Given the description of an element on the screen output the (x, y) to click on. 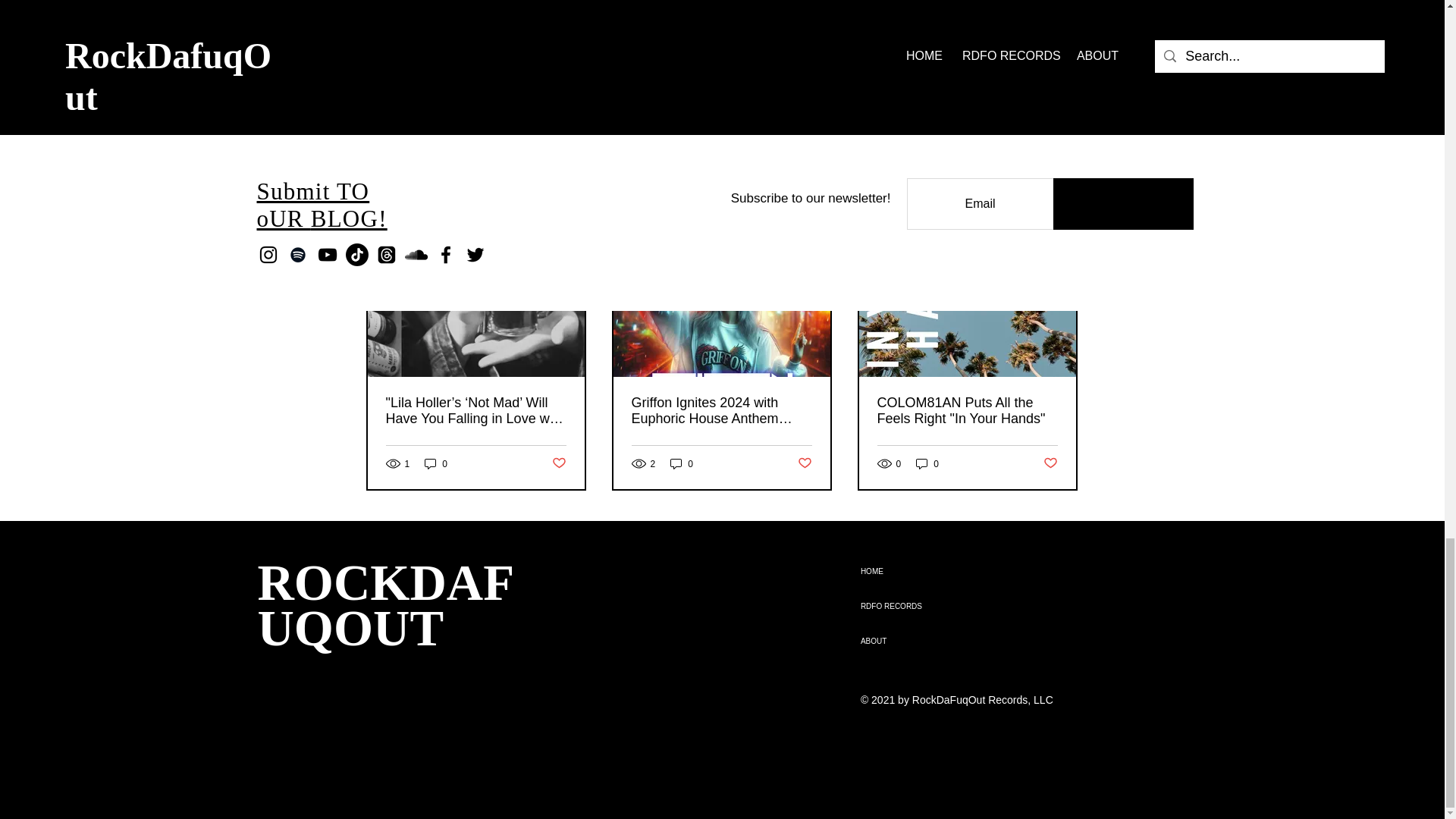
0 (927, 463)
Post not marked as liked (995, 143)
COLOM81AN Puts All the Feels Right "In Your Hands" (966, 410)
See All (1061, 227)
Post not marked as liked (804, 463)
Post not marked as liked (558, 463)
Post not marked as liked (1050, 463)
0 (435, 463)
0 (681, 463)
